Given the description of an element on the screen output the (x, y) to click on. 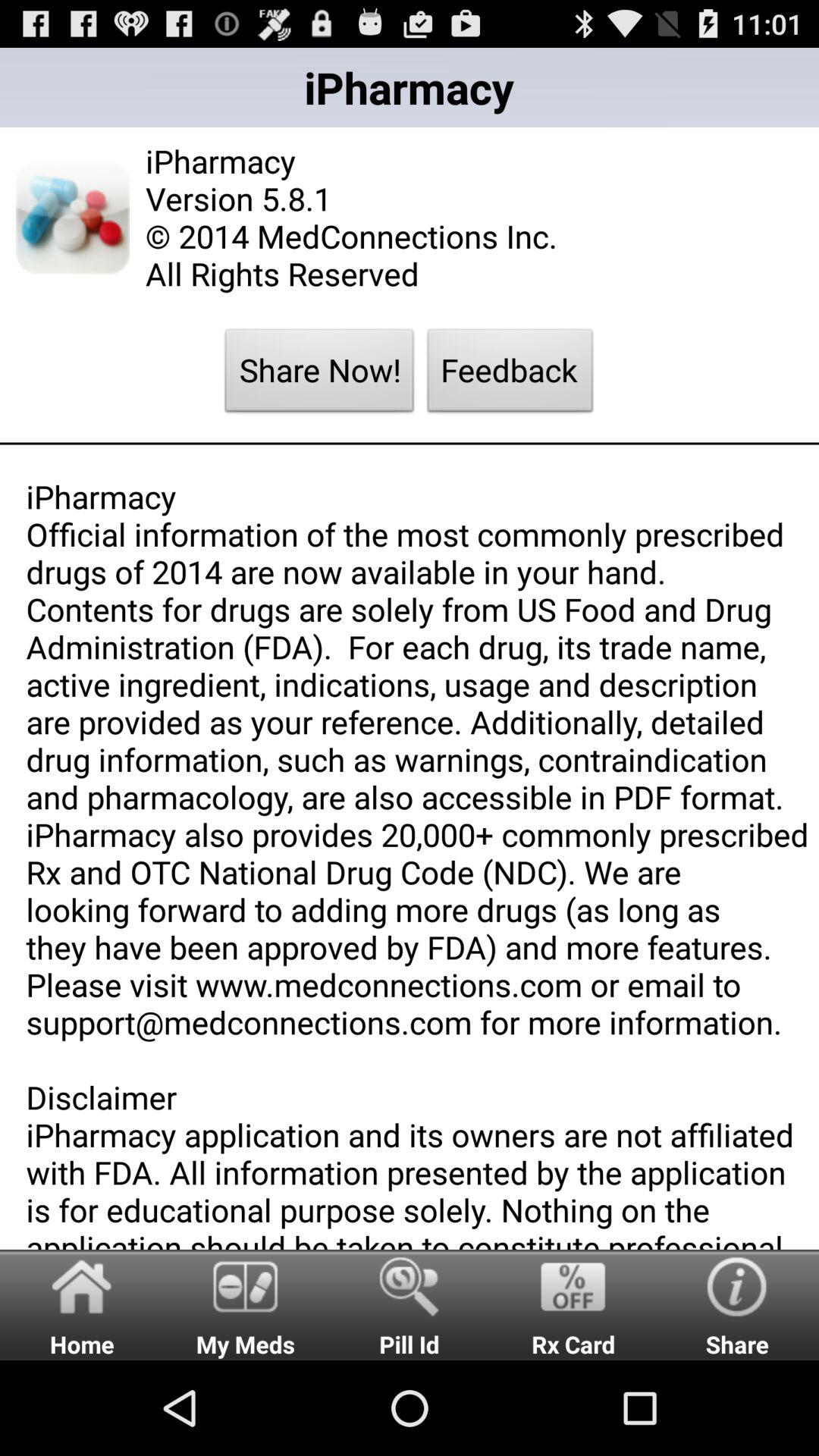
open item below ipharmacy official information icon (245, 1304)
